Given the description of an element on the screen output the (x, y) to click on. 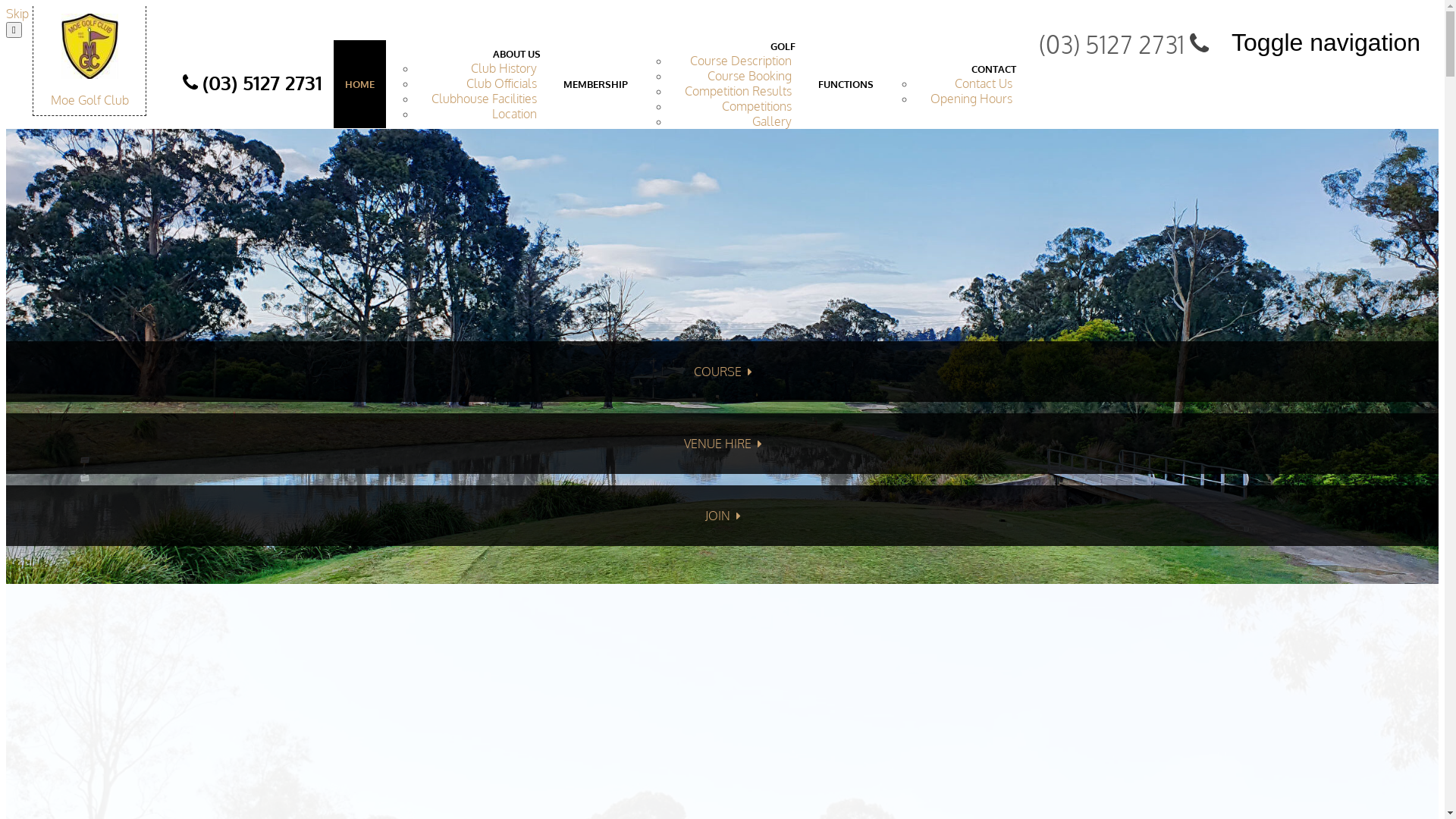
Club Officials Element type: text (501, 83)
GOLF Element type: text (782, 46)
Skip to content Element type: text (46, 13)
Clubhouse Facilities Element type: text (484, 98)
Club History Element type: text (503, 68)
MEMBERSHIP Element type: text (595, 84)
Course Booking Element type: text (749, 75)
4th-Hole-MGC-e1664250195705 Element type: hover (722, 355)
Opening Hours Element type: text (971, 98)
HOME Element type: text (359, 84)
Location Element type: text (514, 113)
CONTACT Element type: text (993, 68)
ABOUT US Element type: text (516, 53)
VENUE HIRE Element type: text (722, 443)
Competitions Element type: text (756, 106)
Competition Results Element type: text (737, 90)
Toggle navigation Element type: text (1329, 42)
Contact Us Element type: text (983, 83)
FUNCTIONS Element type: text (845, 84)
JOIN Element type: text (722, 515)
Gallery Element type: text (771, 121)
Moe Golf Club Element type: text (89, 62)
COURSE Element type: text (722, 371)
(03) 5127 2731 Element type: text (252, 87)
Course Description Element type: text (740, 60)
